Given the description of an element on the screen output the (x, y) to click on. 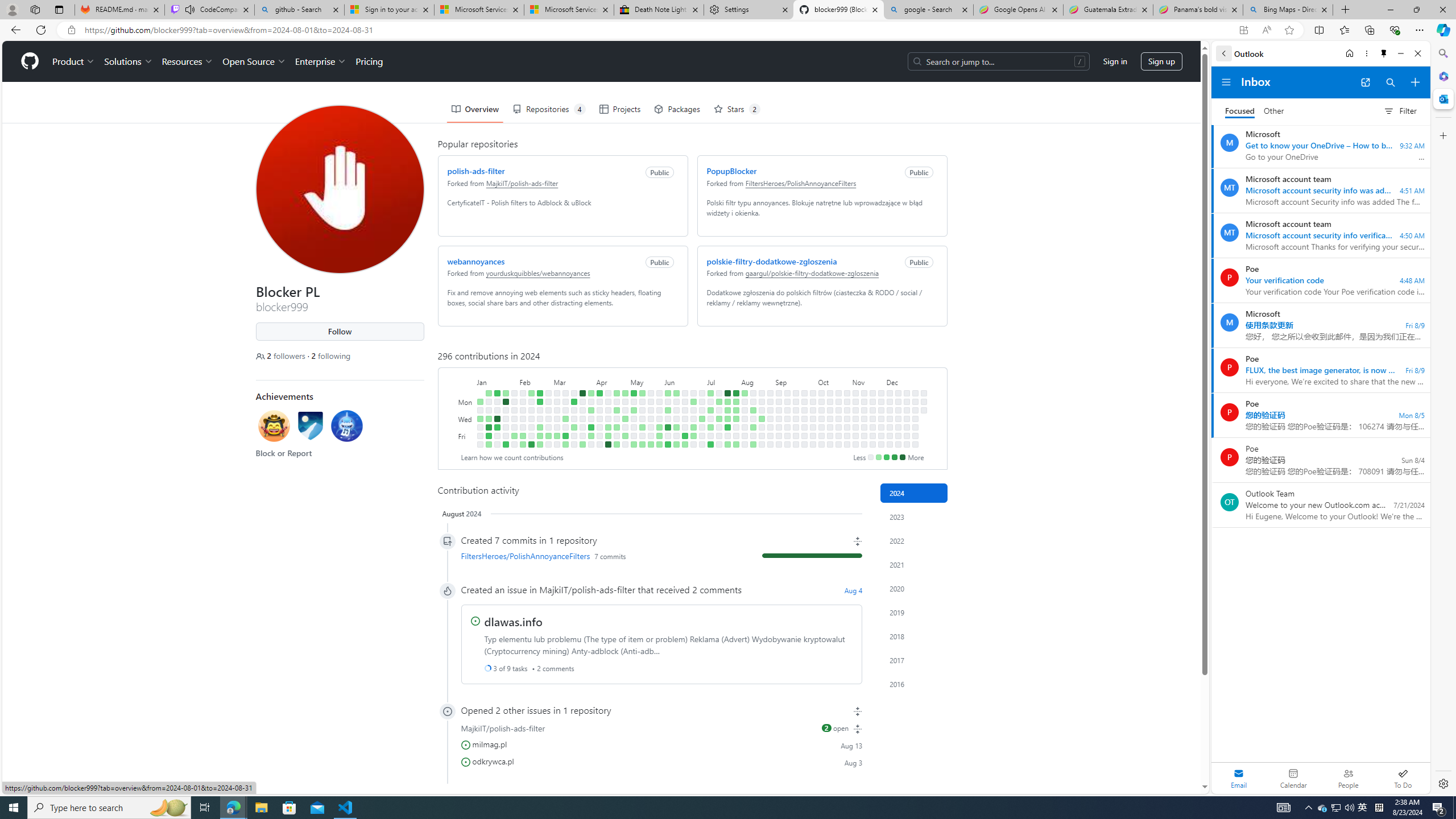
February (535, 380)
2017 (913, 659)
No contributions on December 4th. (889, 418)
Contribution activity in 2021 (913, 564)
No contributions on April 16th. (607, 410)
polskie-filtry-dodatkowe-zgloszenia (771, 260)
No contributions on October 3rd. (812, 427)
No contributions on October 16th. (829, 418)
5 contributions on March 18th. (573, 401)
3 contributions on April 19th. (607, 435)
3 contributions on August 4th. (744, 392)
No contributions on November 22nd. (872, 435)
No contributions on November 23rd. (872, 444)
